Given the description of an element on the screen output the (x, y) to click on. 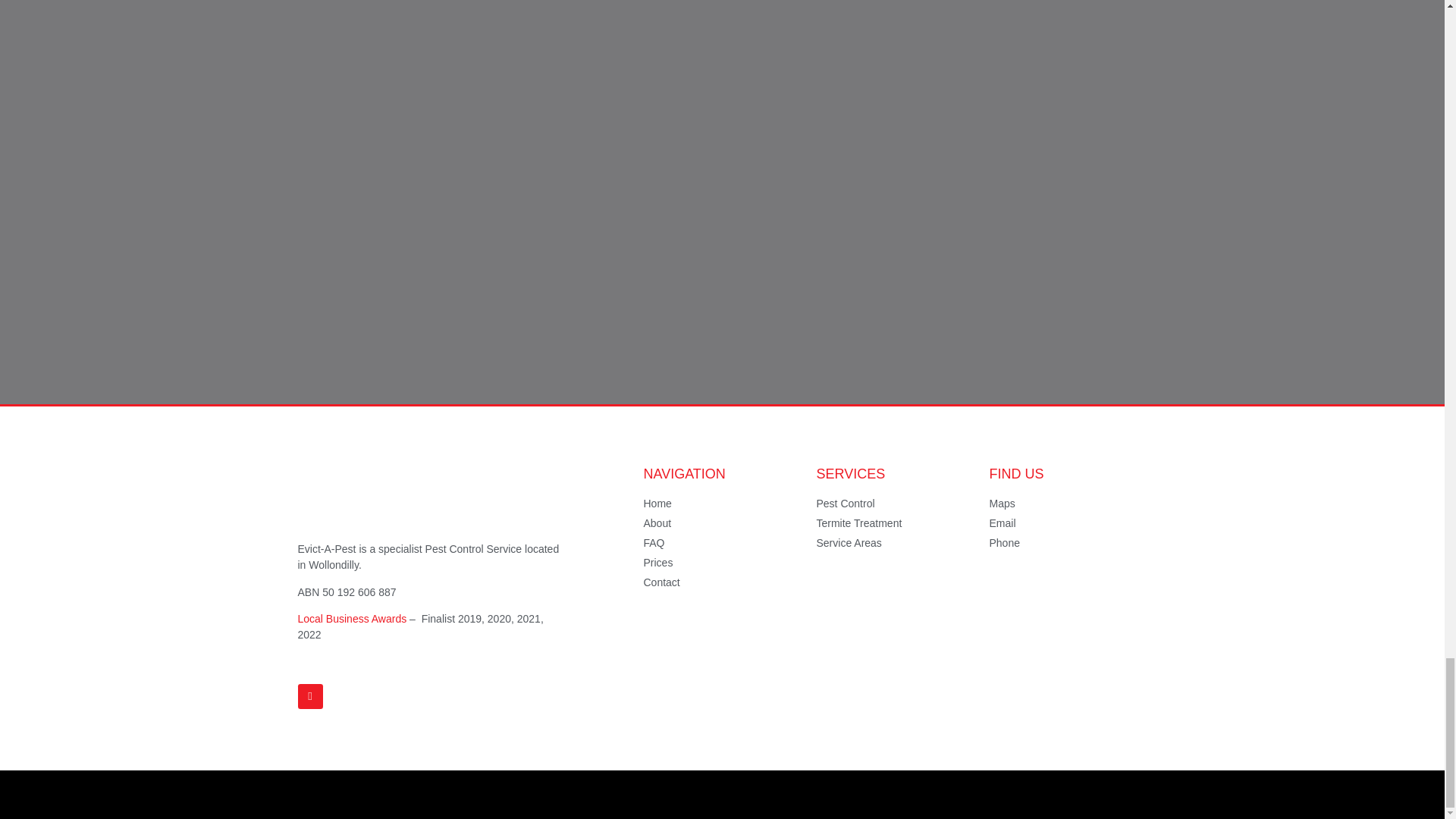
Email (1067, 523)
Contact (721, 582)
Home (721, 503)
Termite Treatment (894, 523)
Local Business Awards (351, 618)
Pest Control (894, 503)
Maps (1067, 503)
About (721, 523)
Phone (1067, 543)
Service Areas (894, 543)
FAQ (721, 543)
Prices (721, 562)
